Given the description of an element on the screen output the (x, y) to click on. 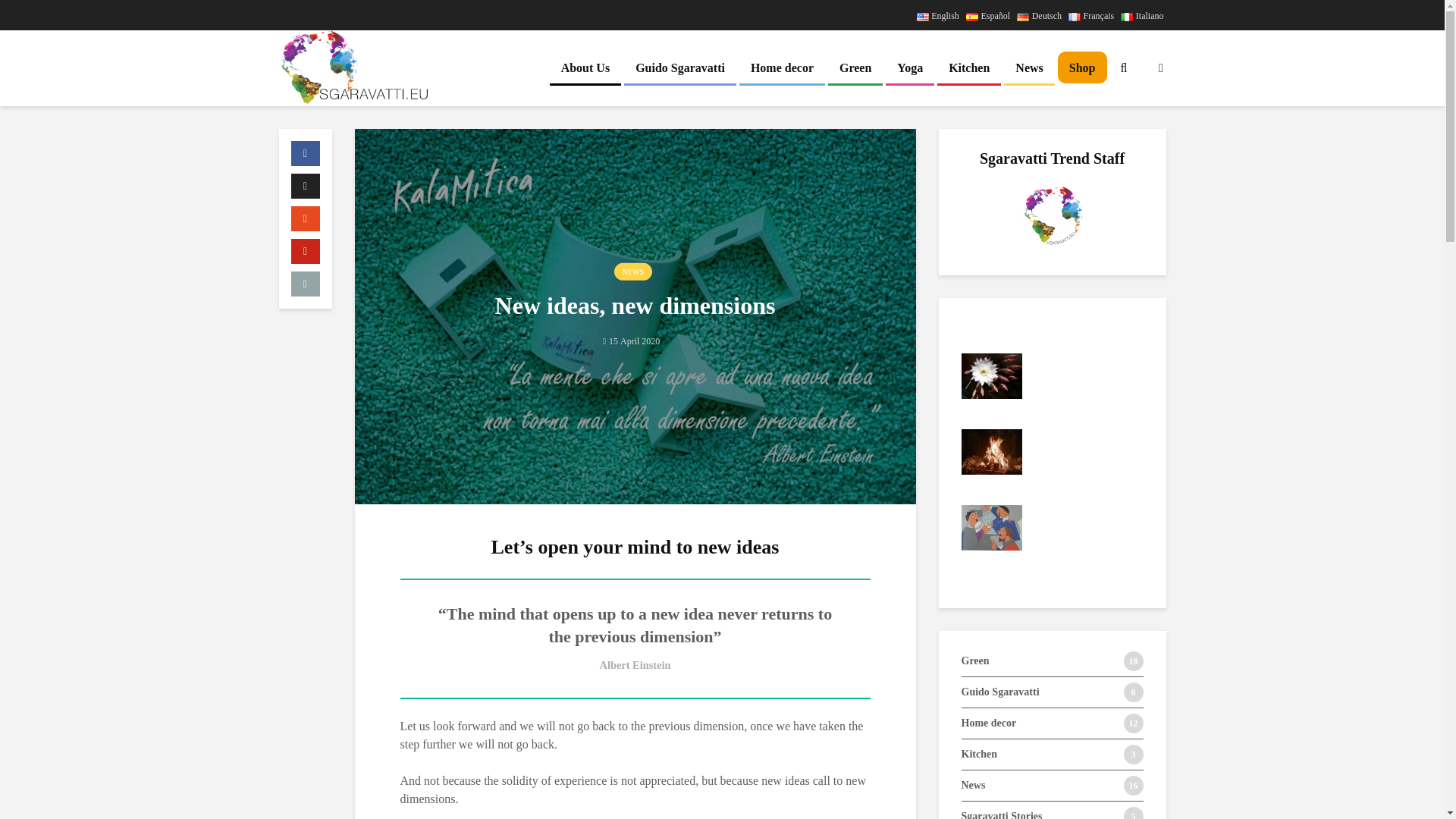
What are Nadis? Ida, Pingala and Sushumna (1173, 374)
Green (855, 68)
What are the 7 Chakras and how to unblock them (809, 465)
Guido Sgaravatti and the Porta dei Fiaccolari in Saponara (1173, 435)
Yoga (909, 68)
What is Muladhara Chakra and how to balance it (809, 541)
Guido Sgaravatti and the Porta dei Fiaccolari in Saponara (627, 435)
About Us (585, 68)
Shop (1082, 68)
